Given the description of an element on the screen output the (x, y) to click on. 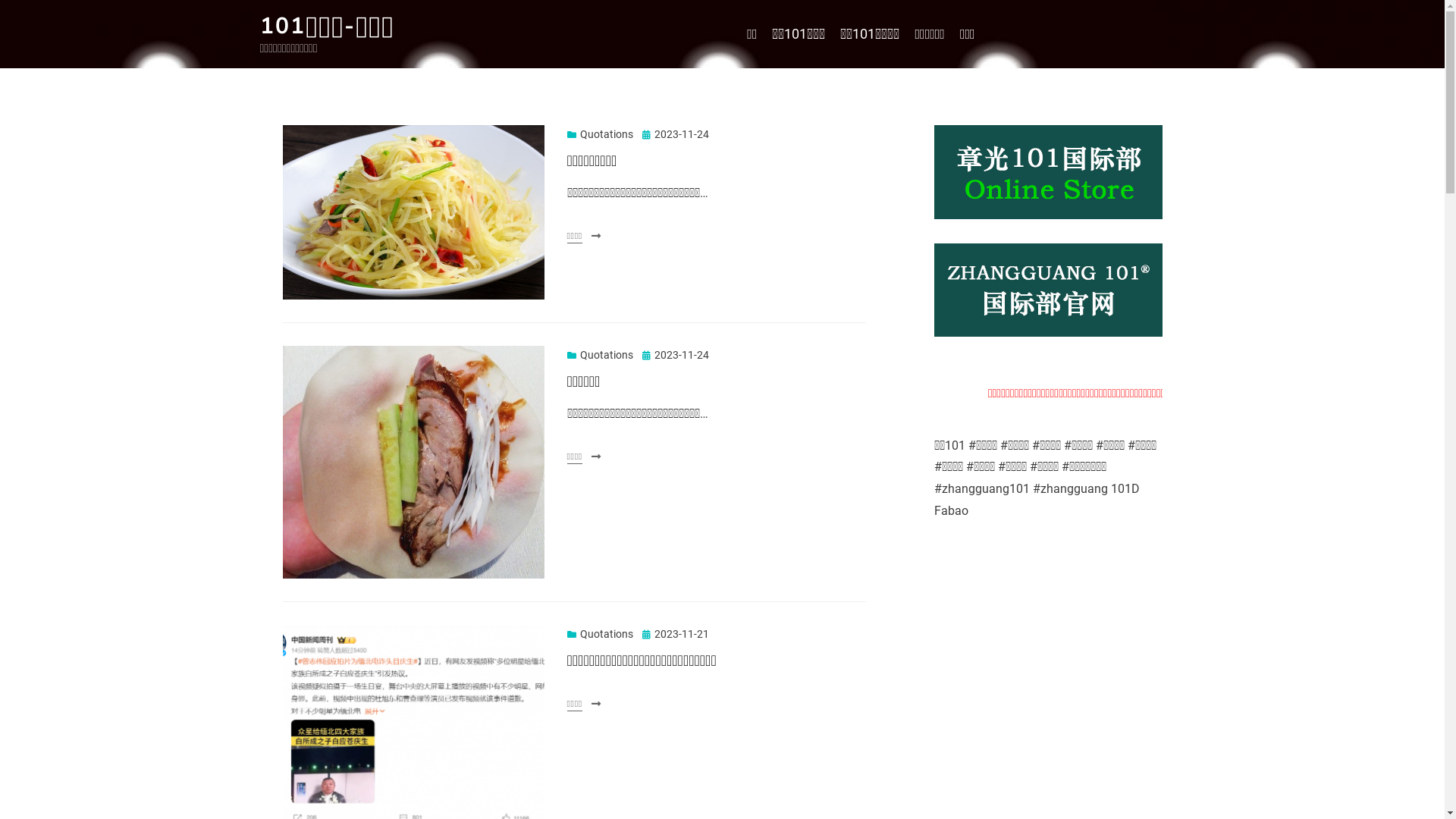
2023-11-24 Element type: text (674, 354)
2023-11-21 Element type: text (674, 633)
Quotations Element type: text (600, 134)
2023-11-24 Element type: text (674, 134)
Quotations Element type: text (600, 354)
Quotations Element type: text (600, 633)
